Given the description of an element on the screen output the (x, y) to click on. 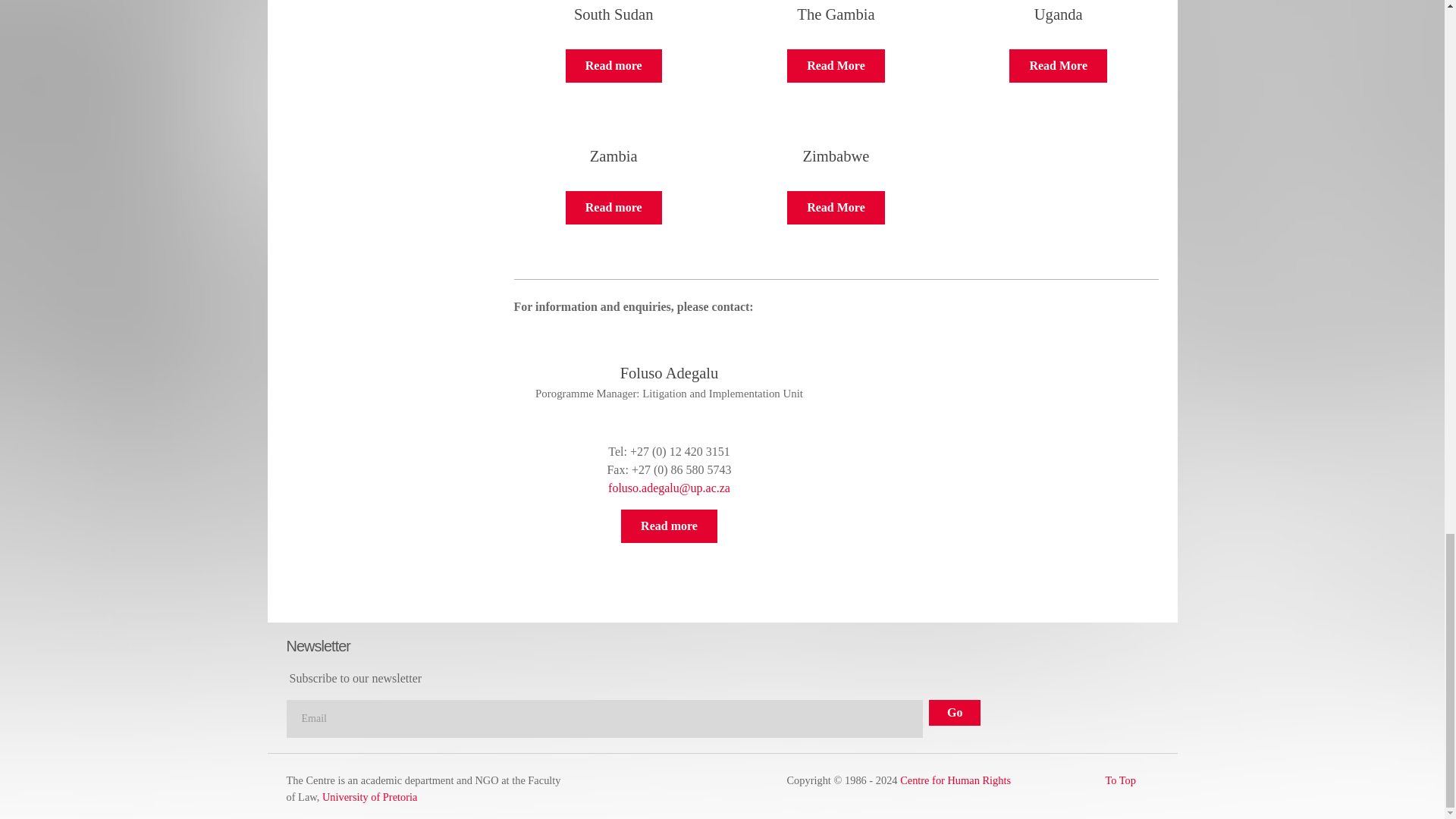
Go (953, 712)
Foluso Adegalu (669, 525)
University of Pretoria (369, 797)
Centre for Human Rights (954, 779)
Zambia (614, 207)
Read more (1057, 65)
Read more (836, 207)
